Given the description of an element on the screen output the (x, y) to click on. 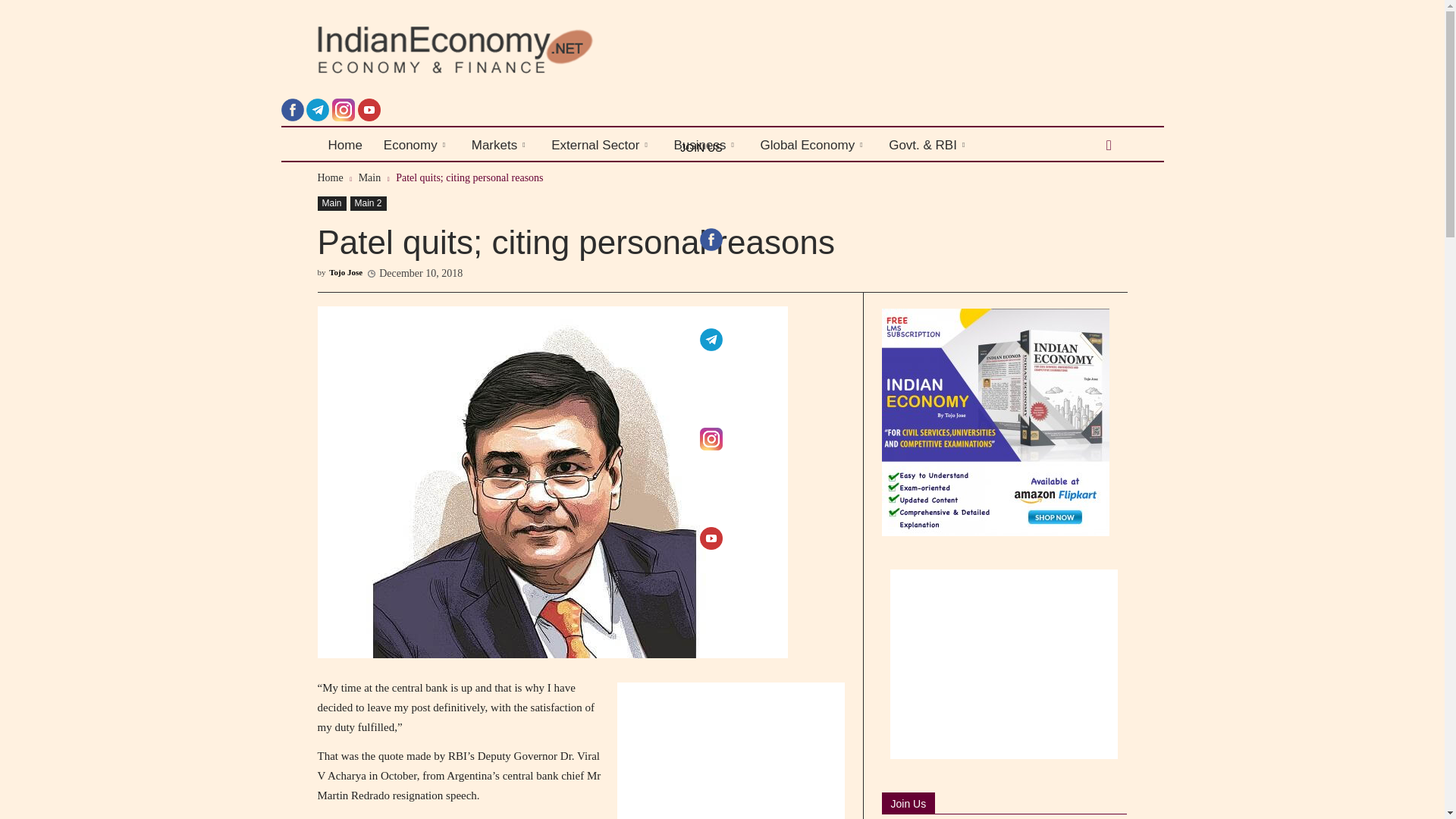
Indian Economy (519, 49)
Indian Economy (455, 49)
Advertisement (730, 750)
View all posts in Main (369, 177)
